Given the description of an element on the screen output the (x, y) to click on. 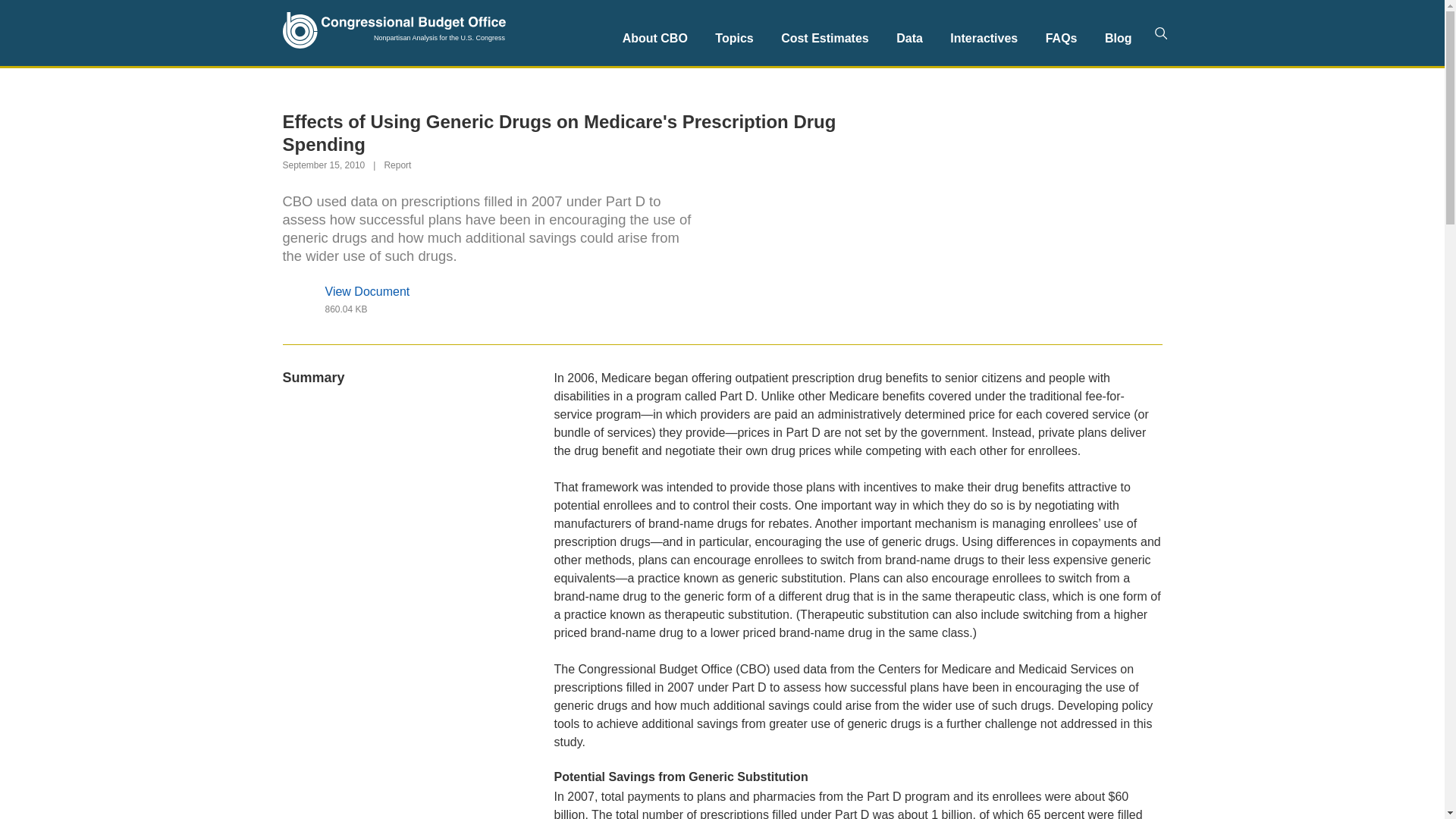
Search (1160, 33)
Blog (1118, 38)
Cost Estimates (824, 38)
FAQs (1061, 38)
Congressional Budget Office (394, 33)
Congressional Budget Office Home (394, 30)
About CBO (655, 38)
View Document (490, 291)
Topics (734, 38)
Interactives (983, 38)
